Given the description of an element on the screen output the (x, y) to click on. 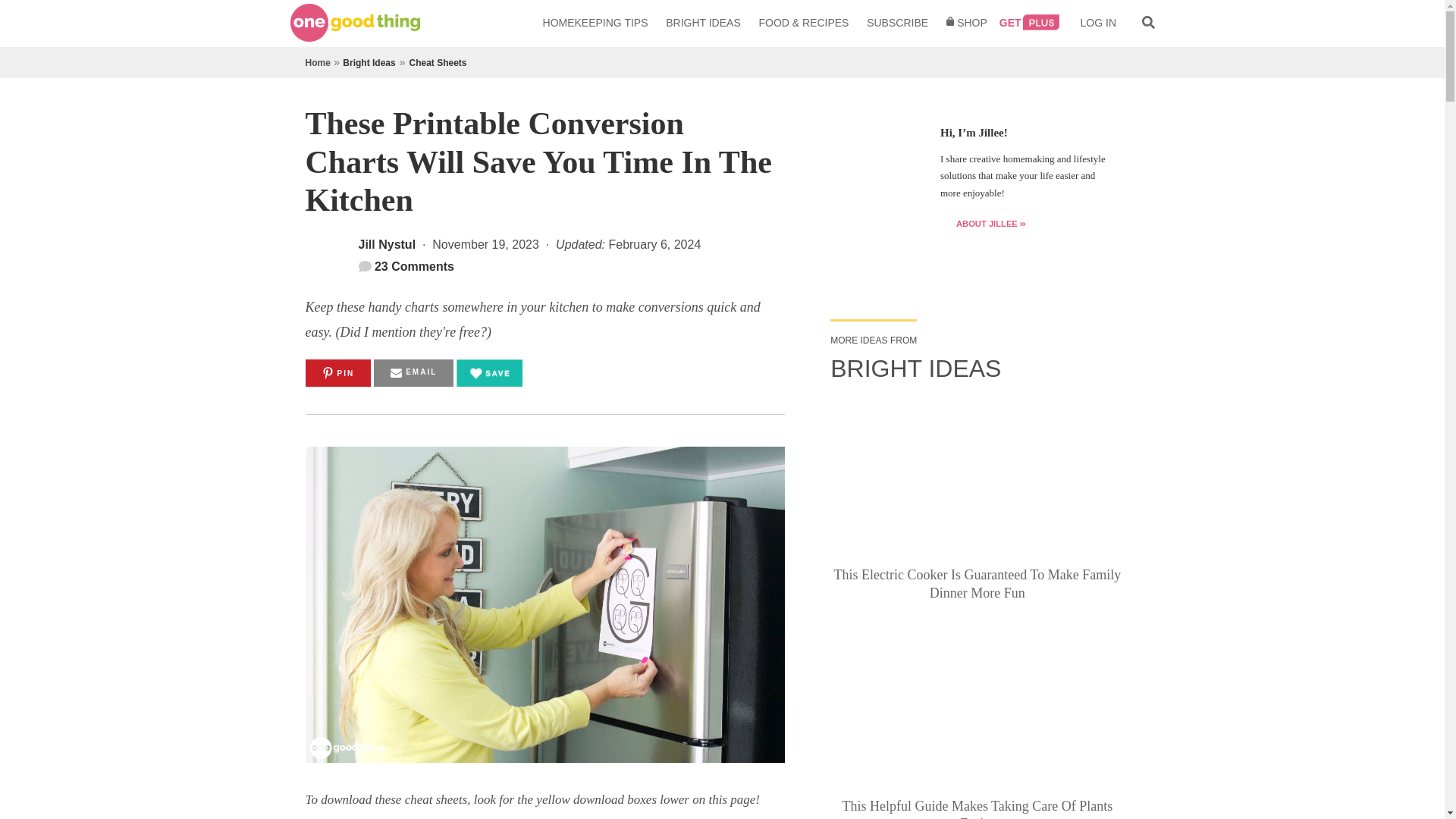
SUBSCRIBE (897, 22)
SHOP (966, 22)
HOMEKEEPING TIPS (596, 22)
GET (1029, 22)
LOG IN (1098, 22)
Share on Pinterest (337, 372)
Share via Email (413, 372)
Go to the Cheat Sheets category archives. (437, 62)
BRIGHT IDEAS (703, 22)
Go to the Bright Ideas category archives. (368, 62)
EMAIL (413, 372)
